Given the description of an element on the screen output the (x, y) to click on. 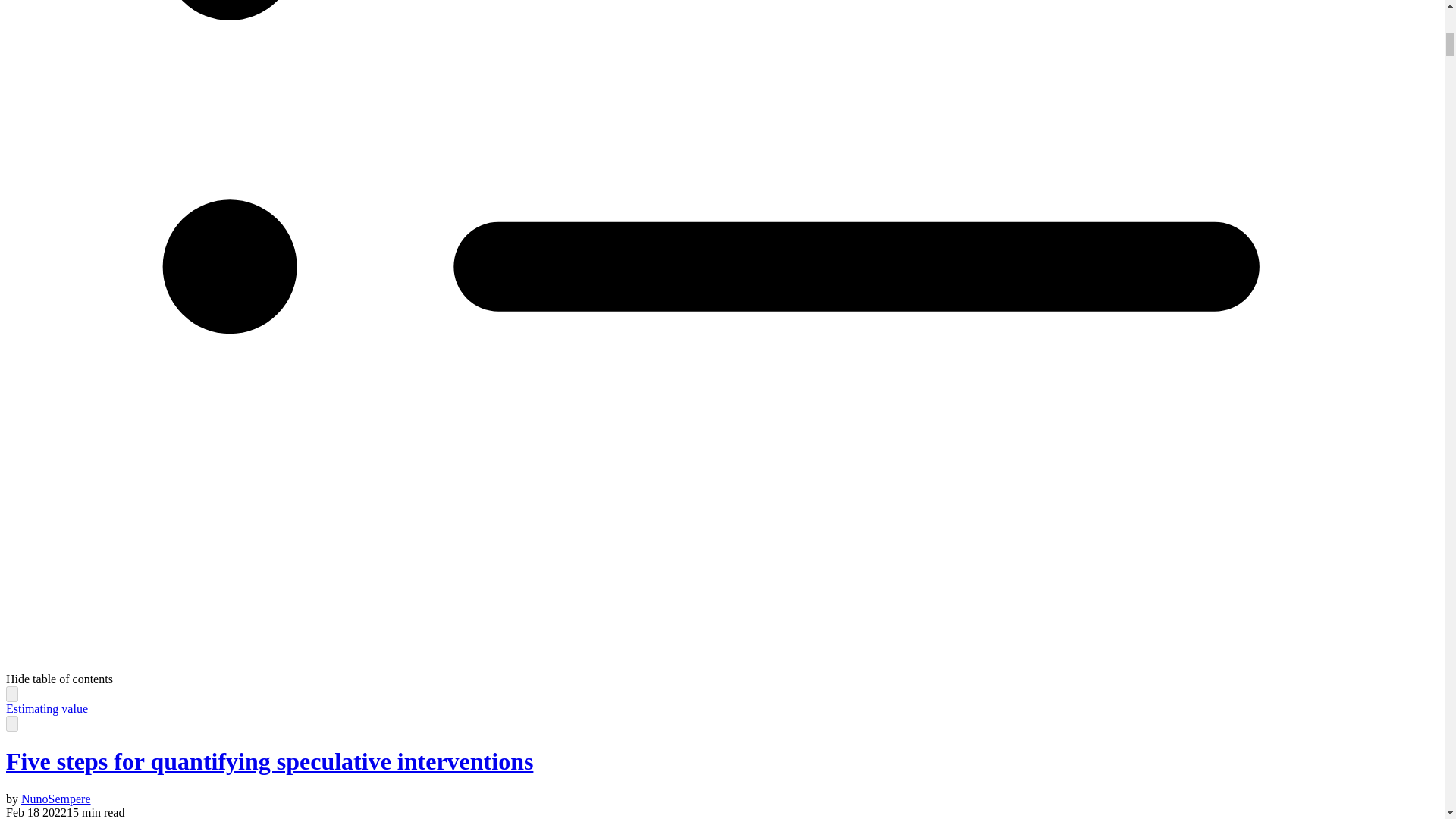
Simple comparison polling to create utility functions (11, 693)
Five steps for quantifying speculative interventions (268, 760)
Estimating value (46, 707)
NunoSempere (55, 798)
